Given the description of an element on the screen output the (x, y) to click on. 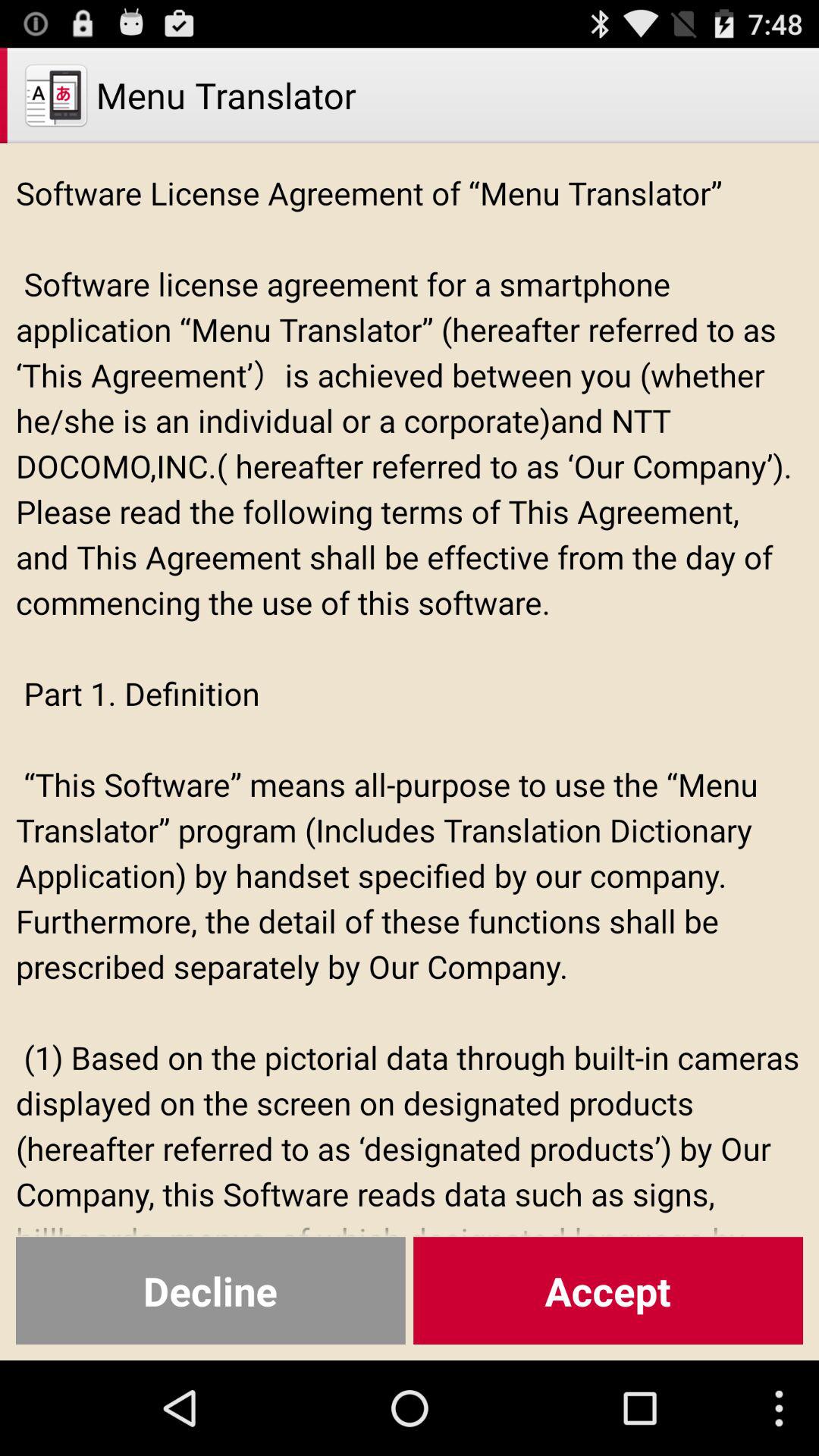
launch accept icon (608, 1290)
